Given the description of an element on the screen output the (x, y) to click on. 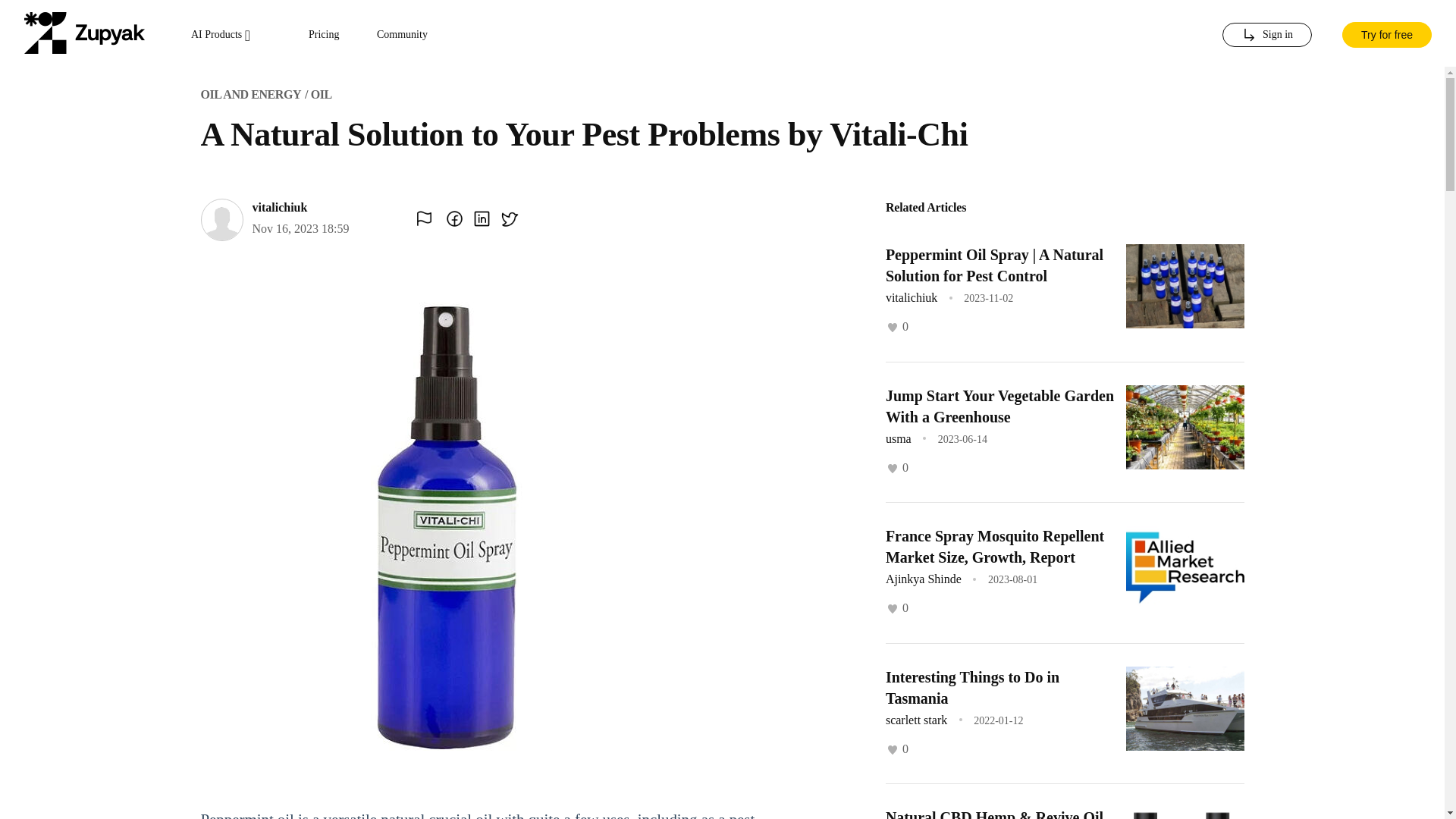
Pricing (323, 34)
Interesting Things to Do in Tasmania  (972, 687)
OIL (321, 93)
Jump Start Your Vegetable Garden With a Greenhouse (999, 405)
Try for free (1386, 33)
Community (402, 34)
OIL AND ENERGY (250, 93)
 Sign in (1267, 34)
